Given the description of an element on the screen output the (x, y) to click on. 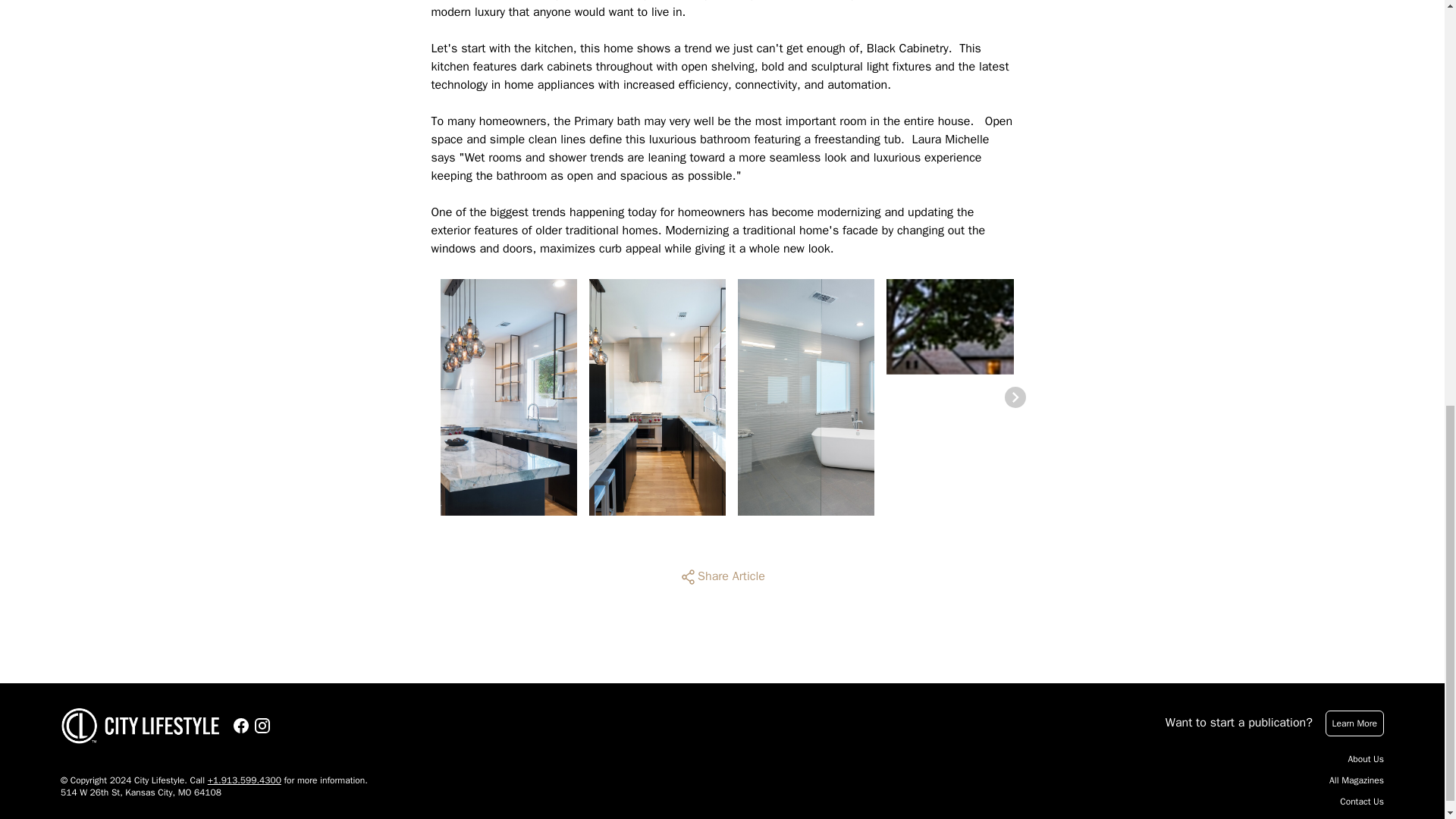
Learn More (1354, 723)
All Magazines (1356, 779)
Share Article (722, 576)
Contact Us (1361, 801)
About Us (1366, 758)
